Given the description of an element on the screen output the (x, y) to click on. 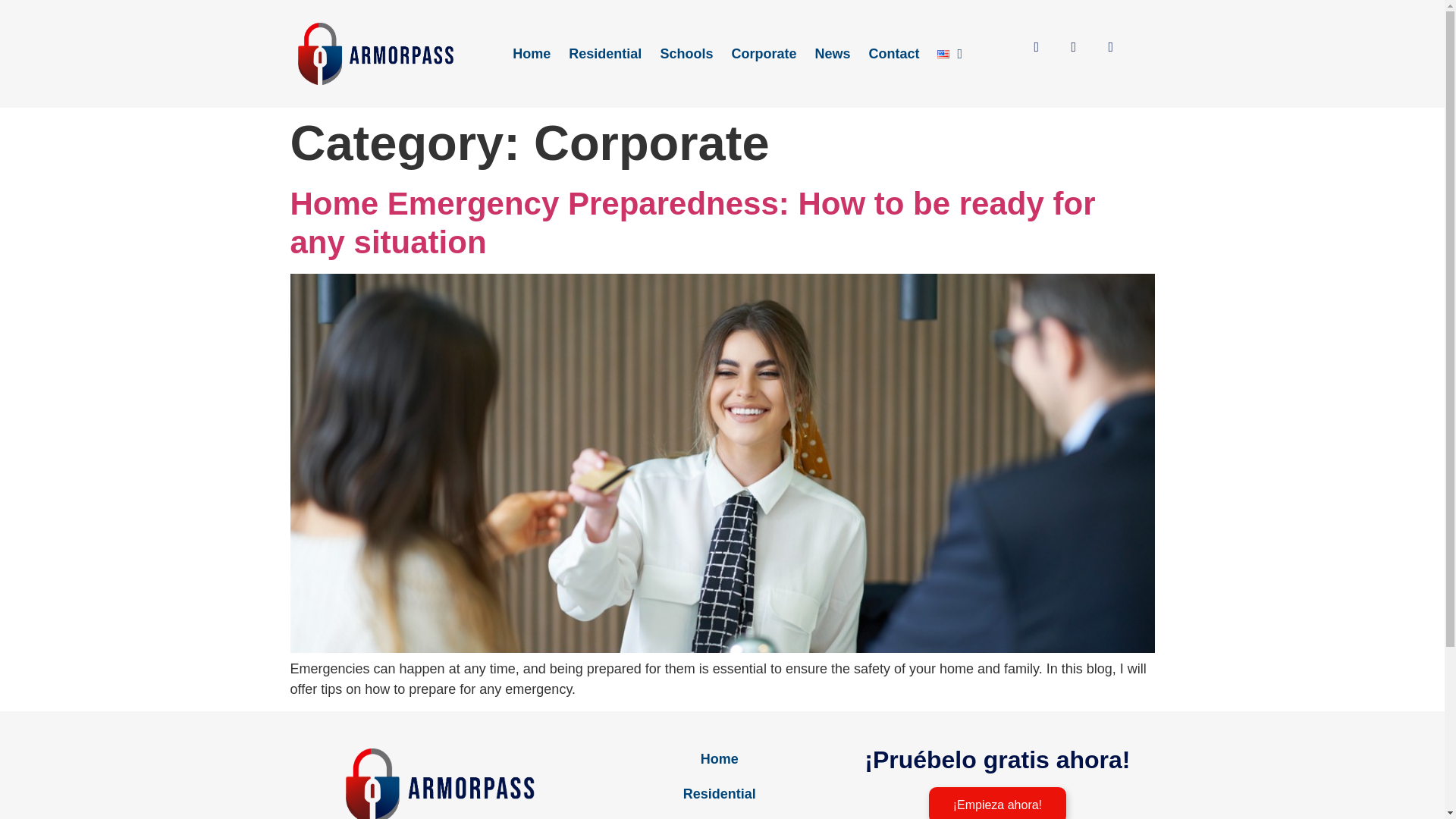
Corporate (763, 53)
Home (531, 53)
Schools (686, 53)
Home (719, 759)
Schools (719, 815)
Residential (719, 793)
News (832, 53)
Contact (893, 53)
Residential (604, 53)
